Given the description of an element on the screen output the (x, y) to click on. 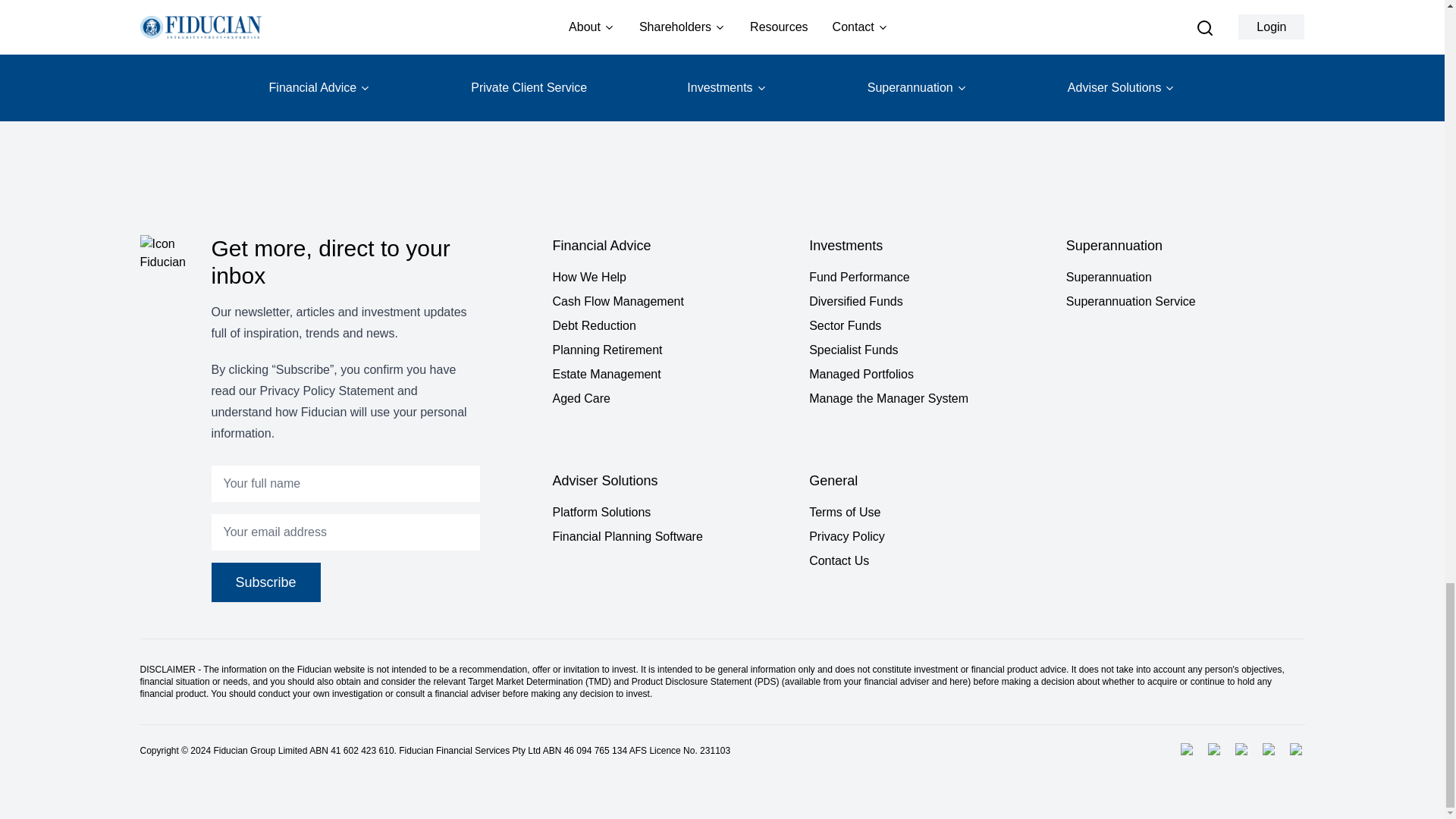
Managed Portfolios (928, 374)
Estate Management (670, 374)
Superannuation (1184, 277)
Aged Care (670, 398)
Debt Reduction (670, 325)
Financial Planning Software (670, 536)
Advisor Profile (401, 8)
Platform Solutions (670, 512)
Specialist Funds (928, 350)
Sector Funds (928, 325)
Manage the Manager System (928, 398)
Subscribe (265, 581)
How We Help (670, 277)
Cash Flow Management (670, 301)
Diversified Funds (928, 301)
